Given the description of an element on the screen output the (x, y) to click on. 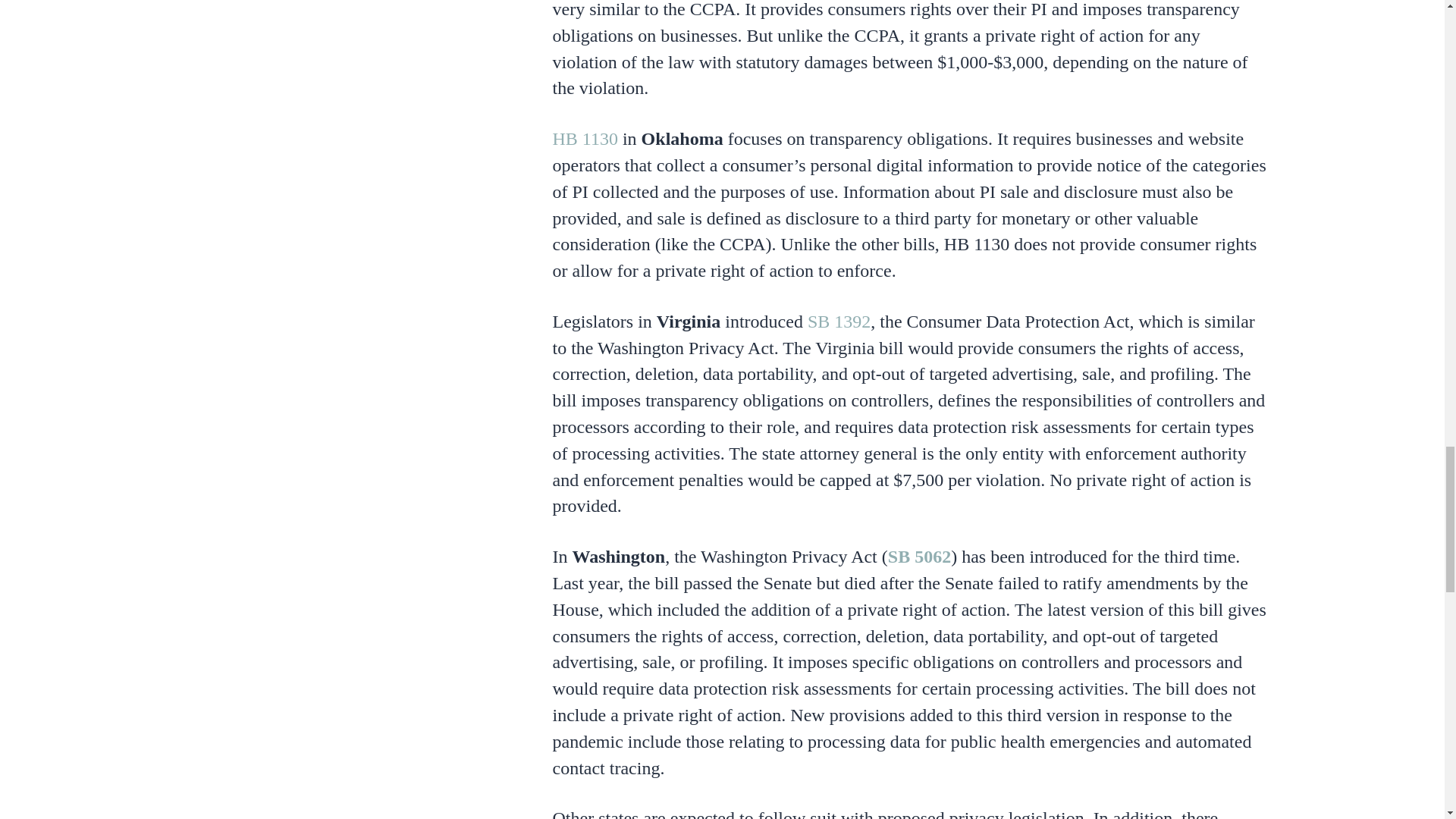
HB 1130 (584, 138)
SB 1392 (839, 321)
SB 5062 (919, 556)
